Given the description of an element on the screen output the (x, y) to click on. 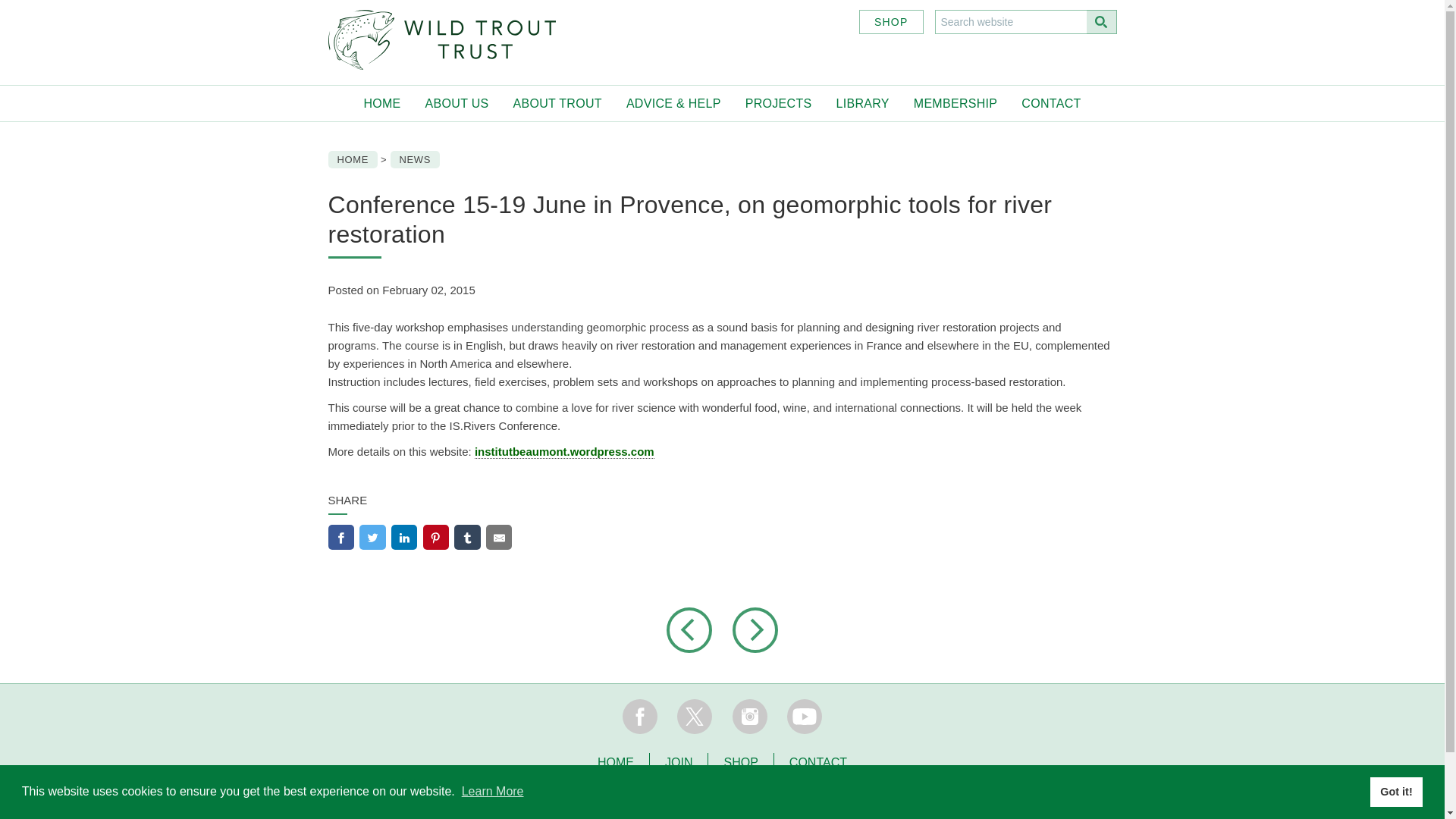
Previous (697, 629)
SHOP (891, 21)
ABOUT TROUT (556, 103)
Submit (1101, 21)
HOME (381, 103)
ABOUT US (456, 103)
Learn More (492, 790)
Next (754, 629)
PROJECTS (778, 103)
Got it! (1396, 791)
